Given the description of an element on the screen output the (x, y) to click on. 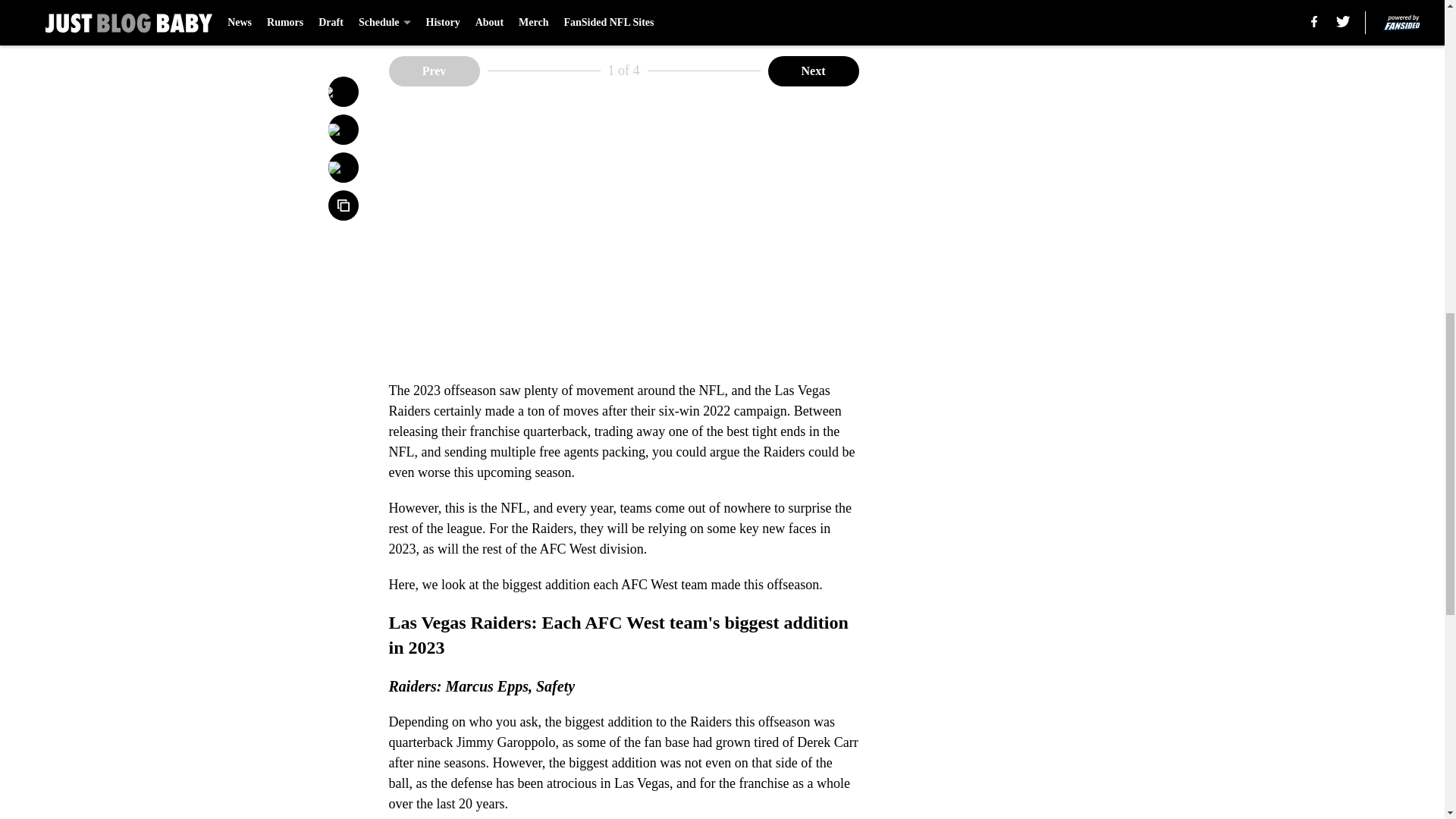
Prev (433, 71)
Next (813, 71)
